Given the description of an element on the screen output the (x, y) to click on. 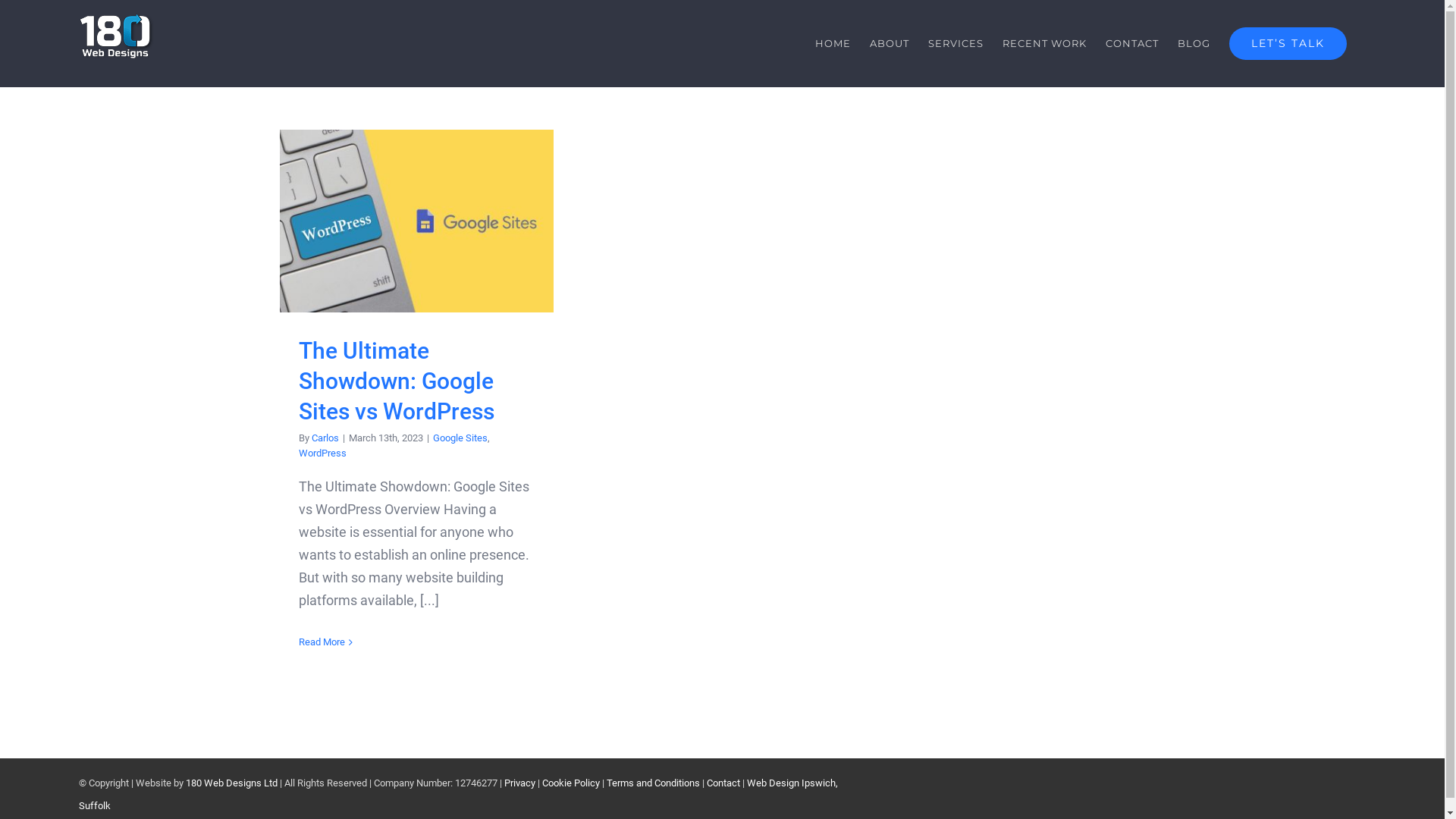
Privacy Element type: text (519, 782)
The Ultimate Showdown: Google Sites vs WordPress Element type: text (396, 380)
Contact Element type: text (723, 782)
SERVICES Element type: text (955, 42)
Cookie Policy Element type: text (570, 782)
RECENT WORK Element type: text (1044, 42)
BLOG Element type: text (1193, 42)
WordPress Element type: text (322, 452)
Read More Element type: text (321, 641)
The Ultimate Showdown: Google Sites Vs Wordpress Element type: hover (415, 220)
CONTACT Element type: text (1131, 42)
Carlos Element type: text (324, 437)
Terms and Conditions Element type: text (652, 782)
Web Design Ipswich, Suffolk Element type: text (457, 794)
ABOUT Element type: text (889, 42)
180 Web Designs Ltd Element type: text (231, 782)
HOME Element type: text (832, 42)
Google Sites Element type: text (459, 437)
